Given the description of an element on the screen output the (x, y) to click on. 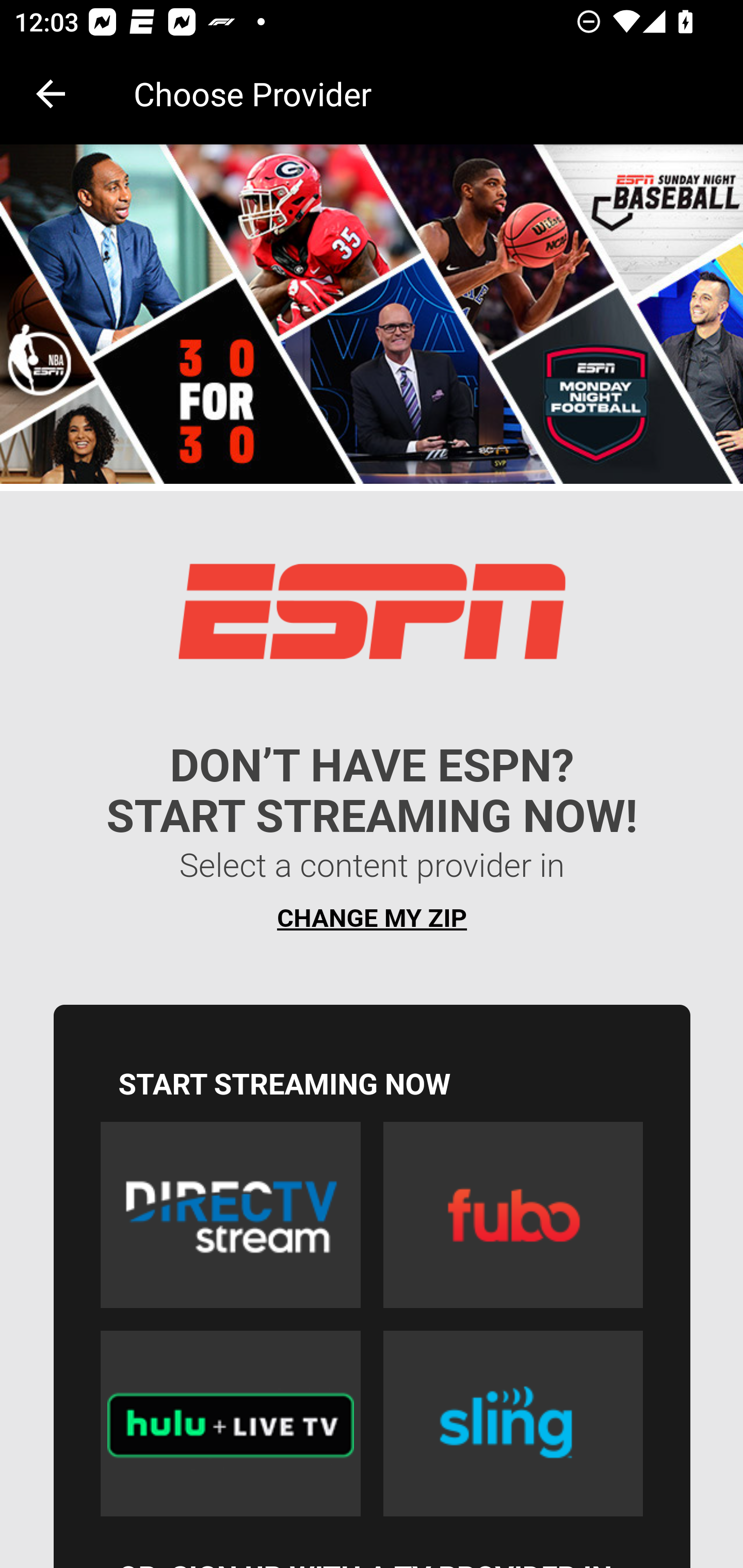
Navigate up (50, 93)
javascript:__doPostBack('lnkCurrentZip','') (372, 867)
CHANGE MY ZIP (371, 917)
DIRECTV Stream (230, 1215)
Fubo TV (513, 1215)
Hulu (230, 1422)
Sling (513, 1422)
